Given the description of an element on the screen output the (x, y) to click on. 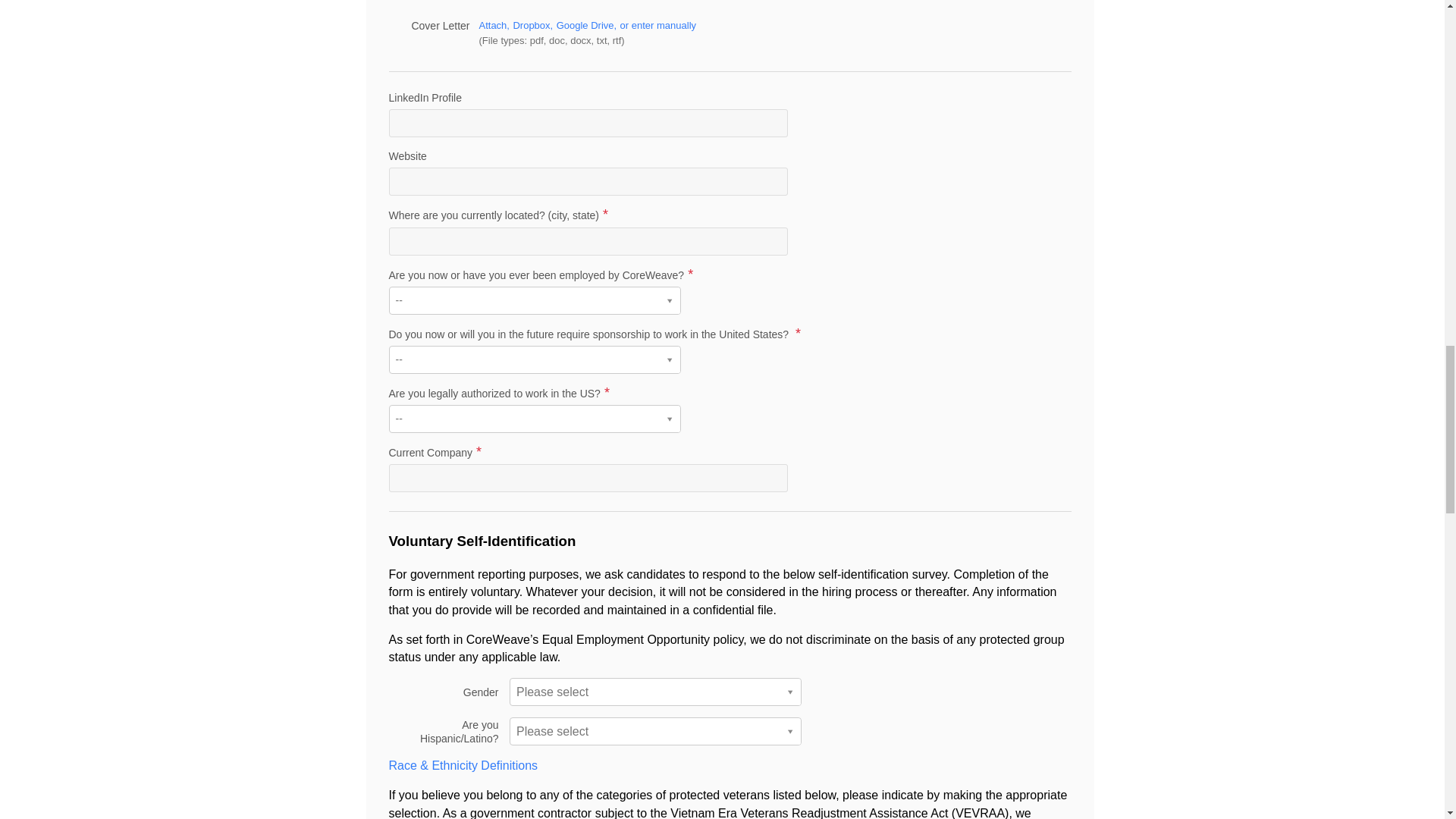
-- (533, 359)
-- (533, 418)
or enter manually (657, 25)
-- (533, 300)
Please select (655, 731)
Attach (494, 25)
Dropbox (532, 25)
Google Drive (586, 25)
Please select (655, 691)
